Given the description of an element on the screen output the (x, y) to click on. 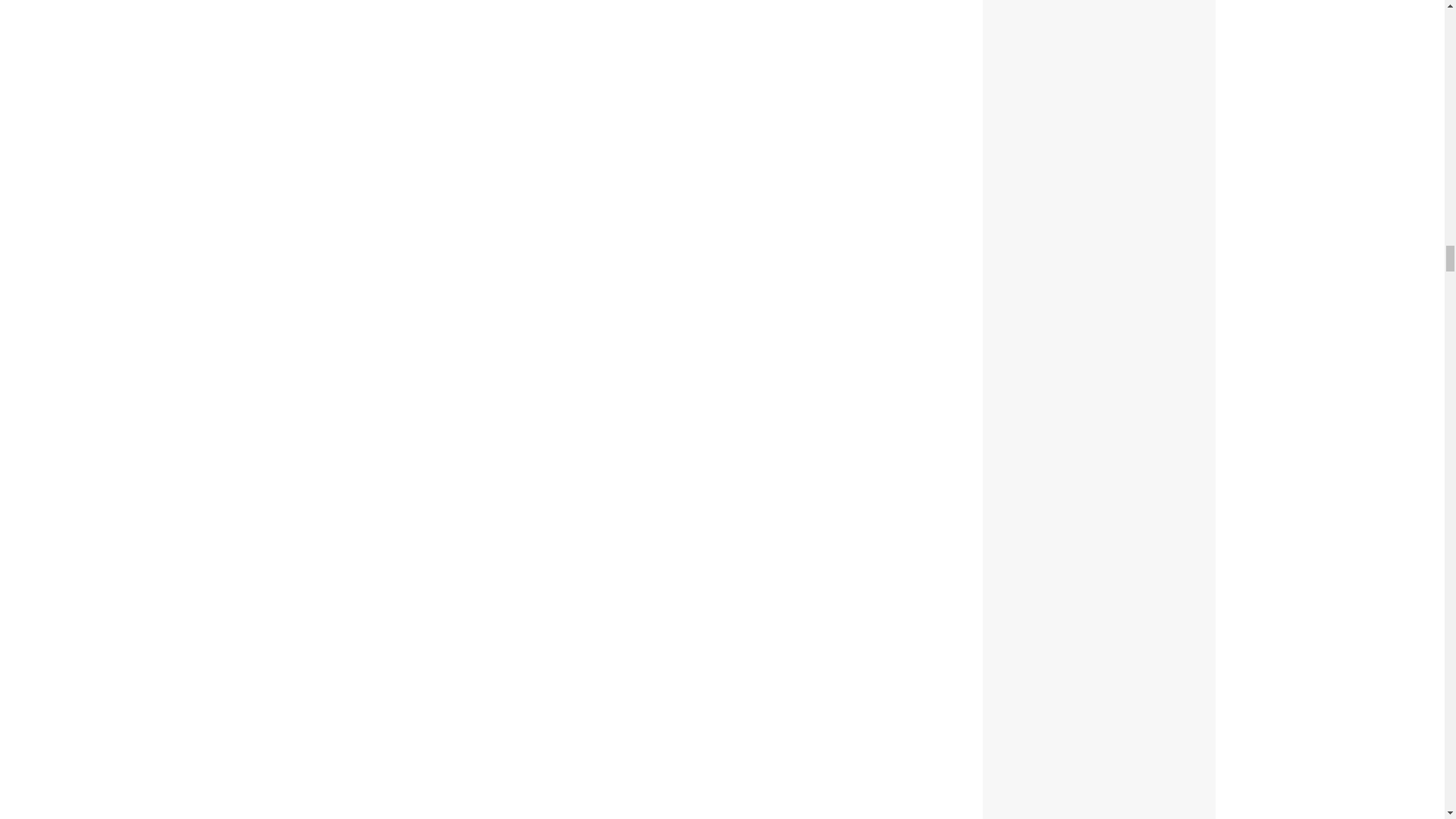
1900 Victorian For Sale In Mexico Missouri (600, 703)
1900 Victorian For Sale In Mexico Missouri (600, 82)
